Given the description of an element on the screen output the (x, y) to click on. 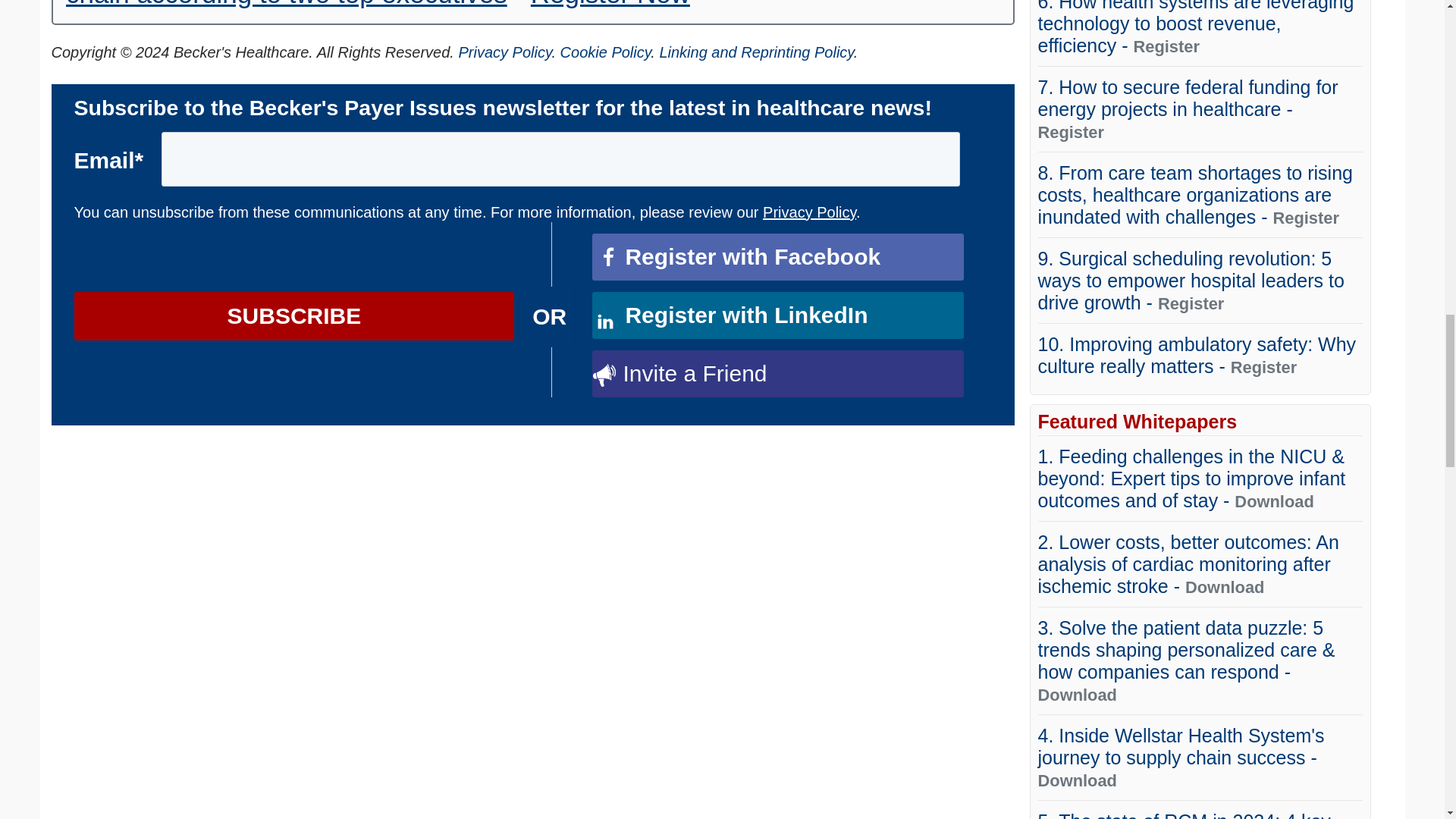
SUBSCRIBE (294, 315)
